Given the description of an element on the screen output the (x, y) to click on. 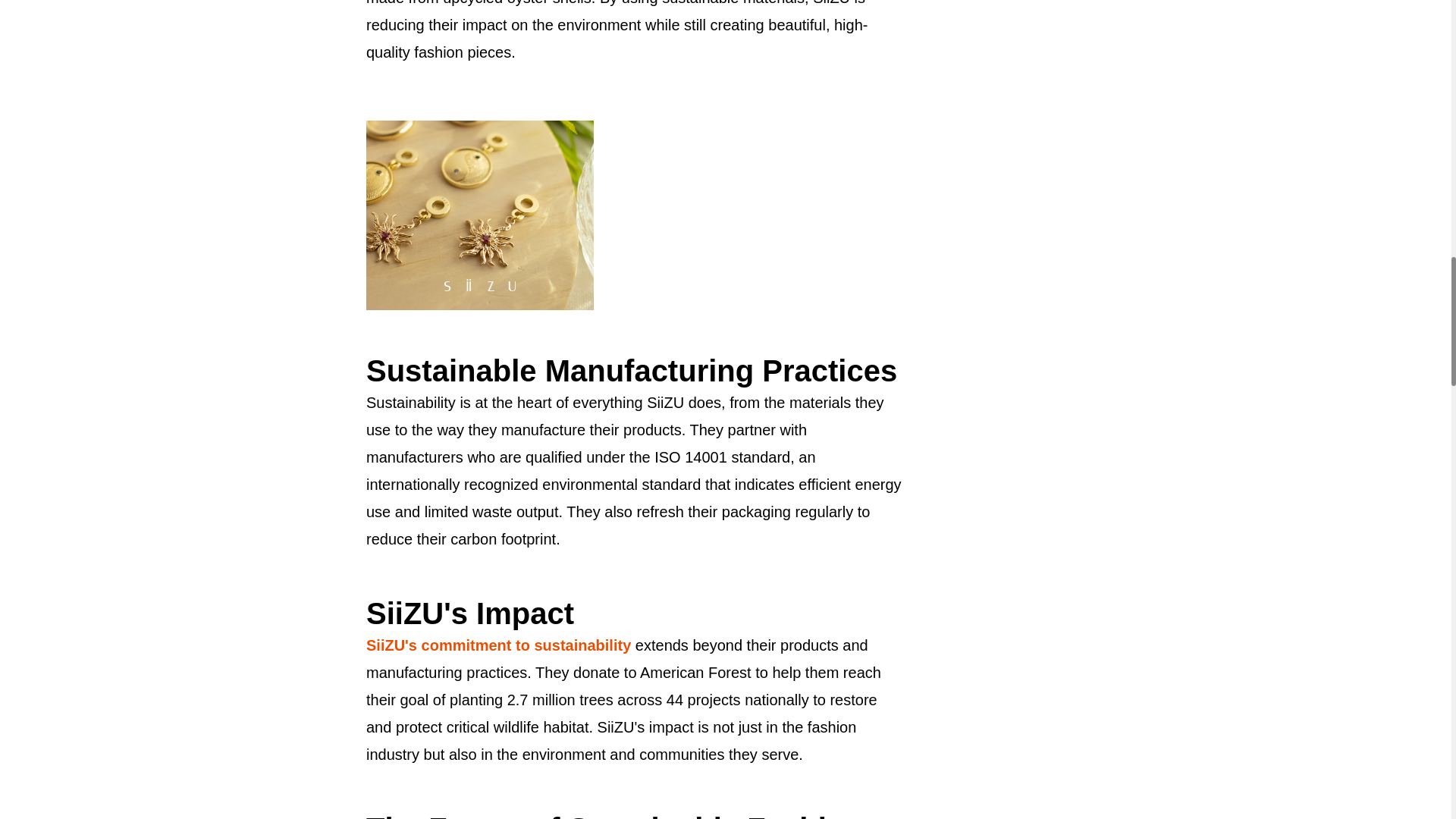
SiiZU's commitment to sustainability (498, 645)
